Given the description of an element on the screen output the (x, y) to click on. 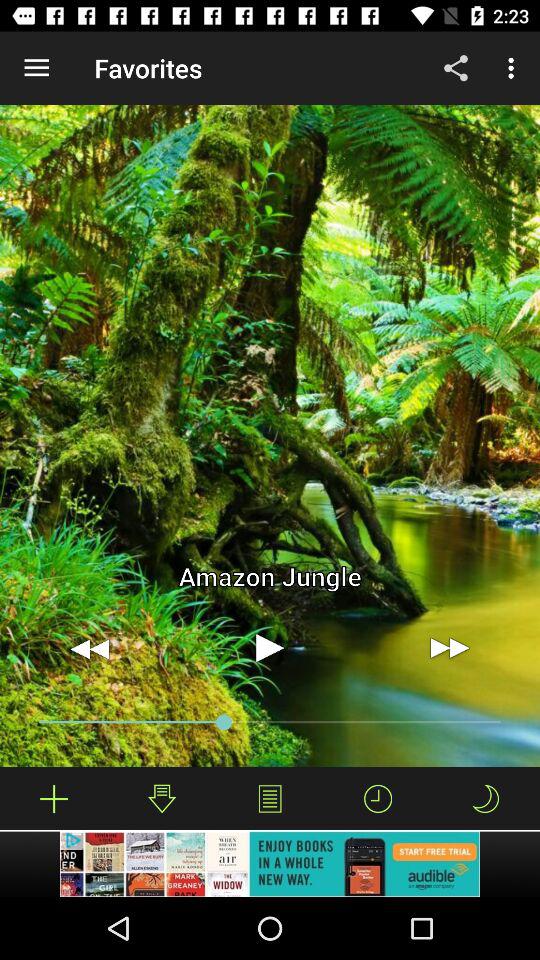
download music (54, 798)
